Given the description of an element on the screen output the (x, y) to click on. 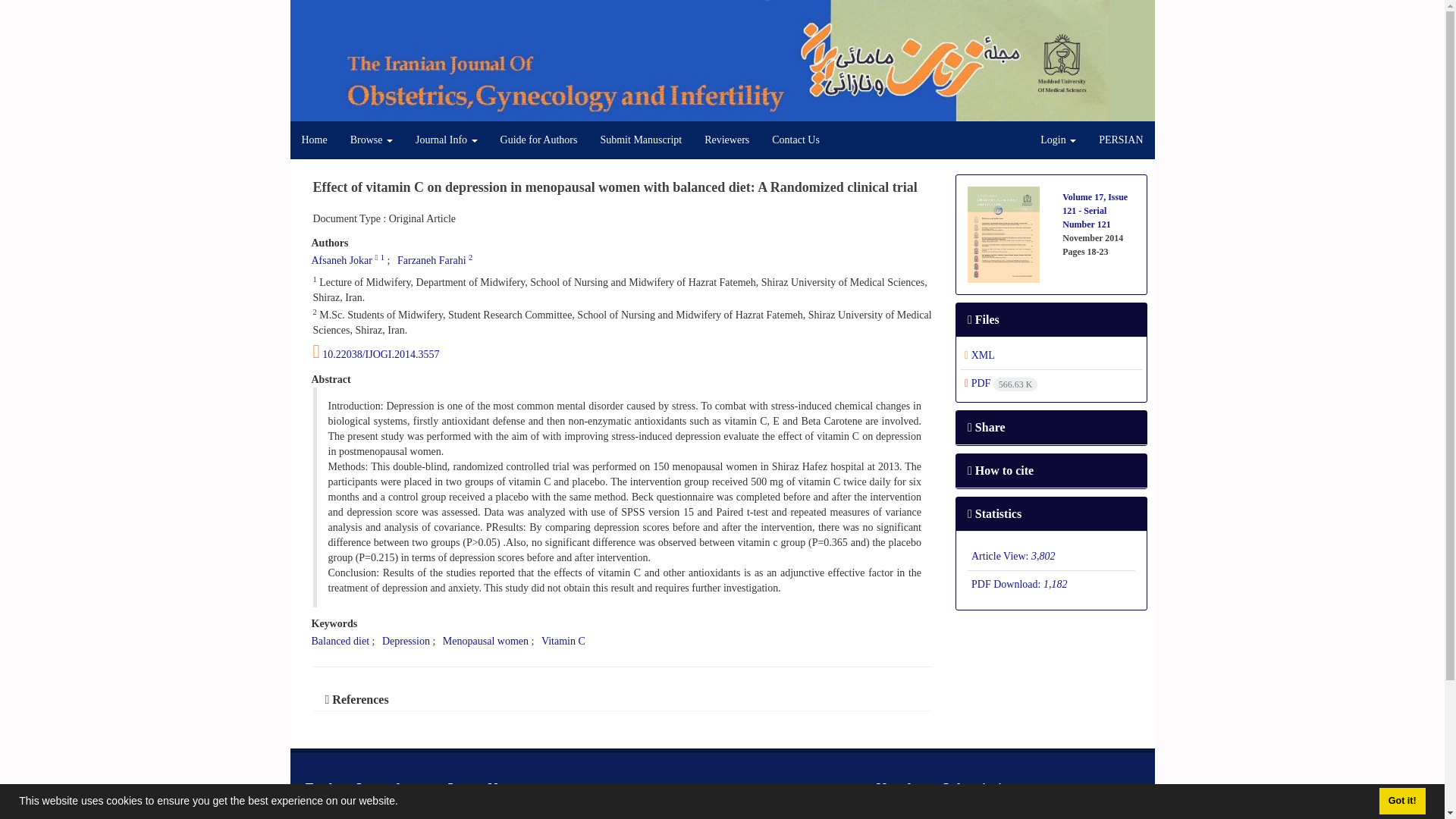
Balanced diet (340, 641)
Afsaneh Jokar (341, 260)
Guide for Authors (539, 139)
Login (1058, 139)
Got it! (1401, 800)
PERSIAN (1120, 139)
Journal Info (446, 139)
Vitamin C (563, 641)
Farzaneh Farahi (431, 260)
Depression (405, 641)
Reviewers (726, 139)
DOI (623, 351)
References (356, 698)
Browse (371, 139)
Submit Manuscript (640, 139)
